Given the description of an element on the screen output the (x, y) to click on. 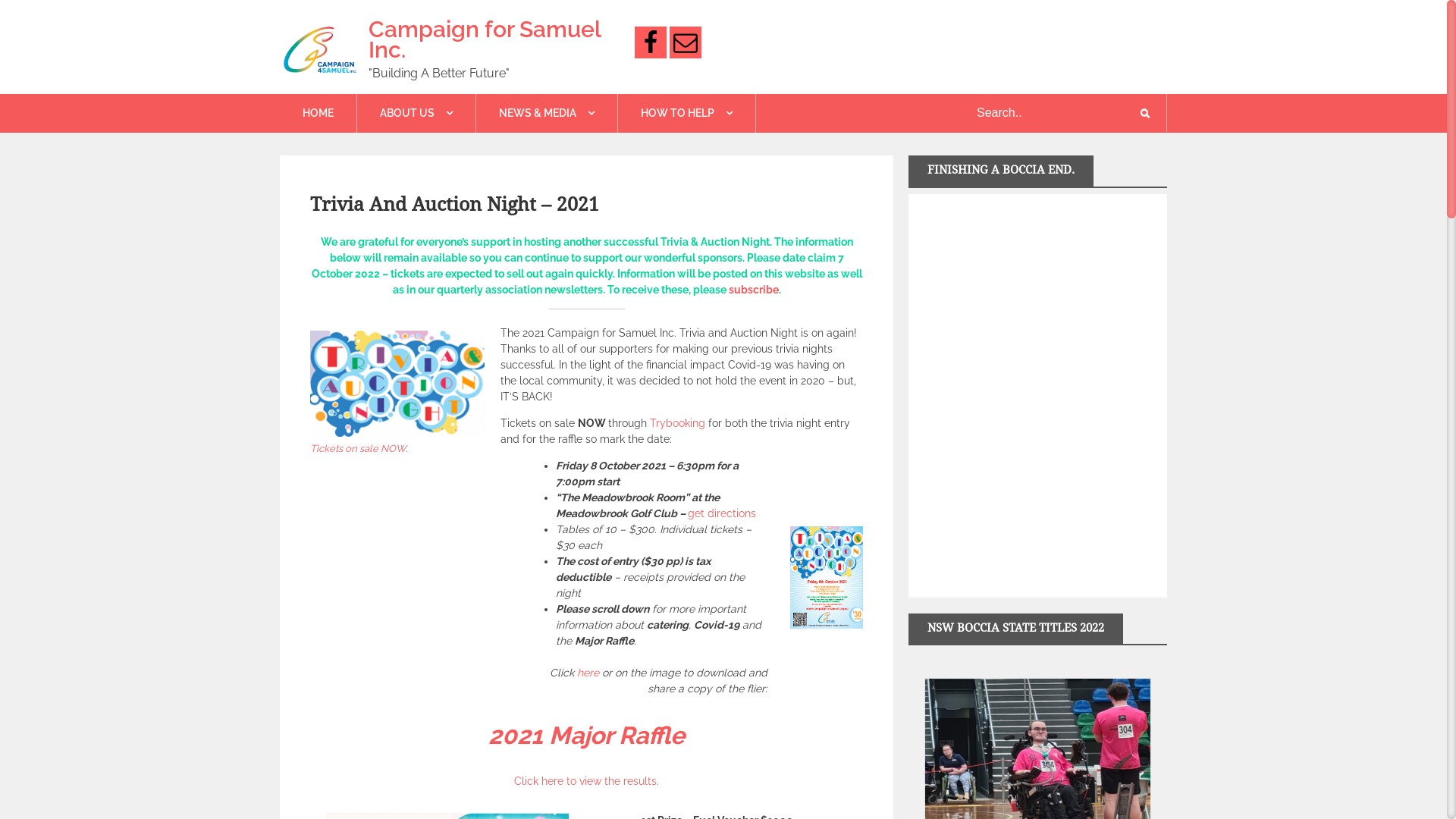
NEWS & MEDIA Element type: text (546, 113)
Trybooking Element type: text (678, 423)
get directions Element type: text (721, 513)
Tickets on sale NOW Element type: text (357, 448)
2021 Major Raffle Element type: text (586, 735)
subscribe Element type: text (753, 289)
here Element type: text (589, 672)
Click here to view the results. Element type: text (586, 781)
Facebook Element type: hover (650, 42)
ABOUT US Element type: text (416, 113)
Campaign for Samuel Inc. Element type: text (484, 38)
HOW TO HELP Element type: text (686, 113)
HOME Element type: text (317, 113)
